Given the description of an element on the screen output the (x, y) to click on. 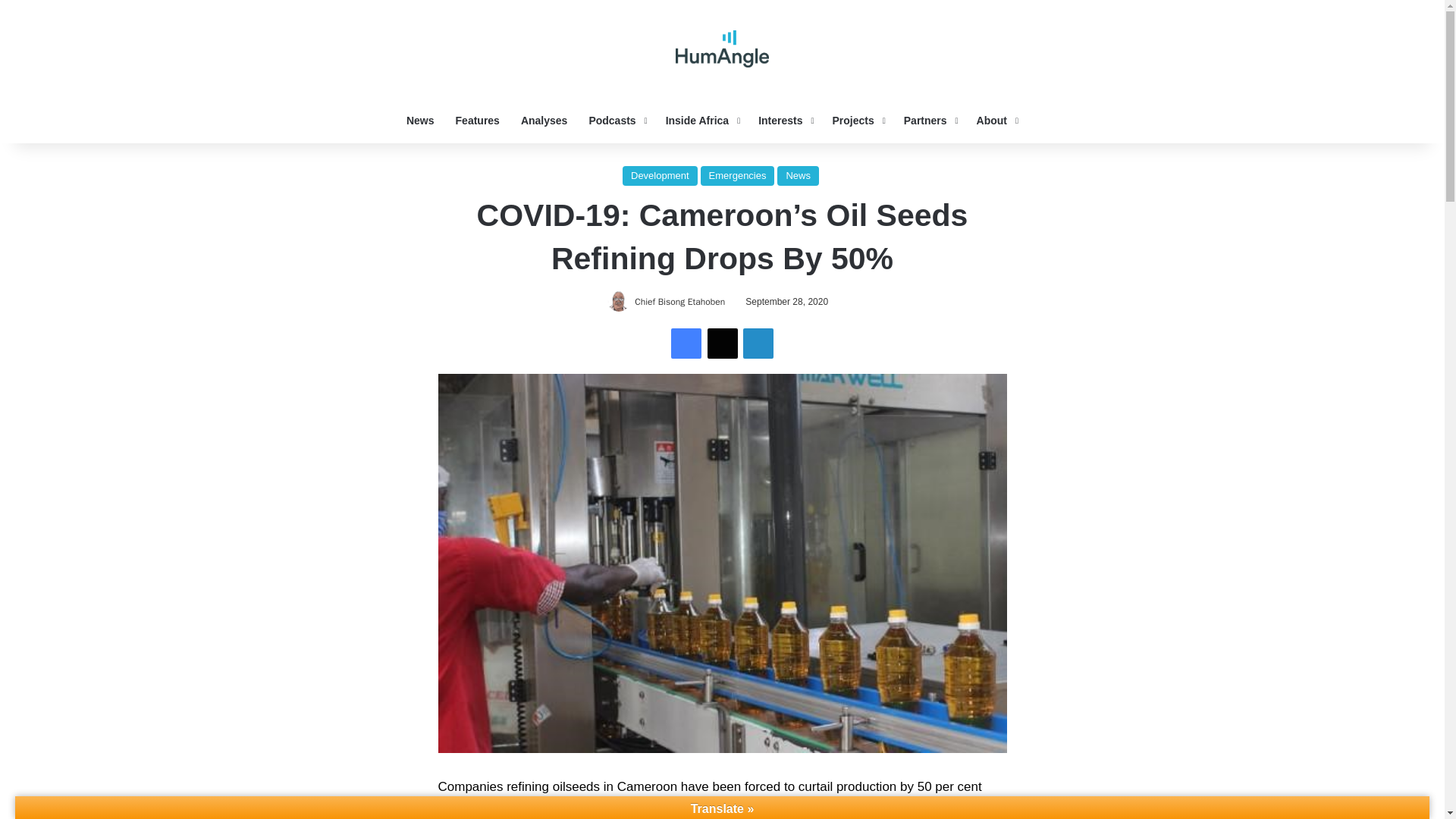
Features (478, 120)
Interests (784, 120)
Podcasts (615, 120)
HumAngle (721, 48)
Inside Africa (701, 120)
LinkedIn (757, 343)
Facebook (686, 343)
News (420, 120)
Analyses (544, 120)
X (721, 343)
Chief Bisong Etahoben (679, 301)
